Given the description of an element on the screen output the (x, y) to click on. 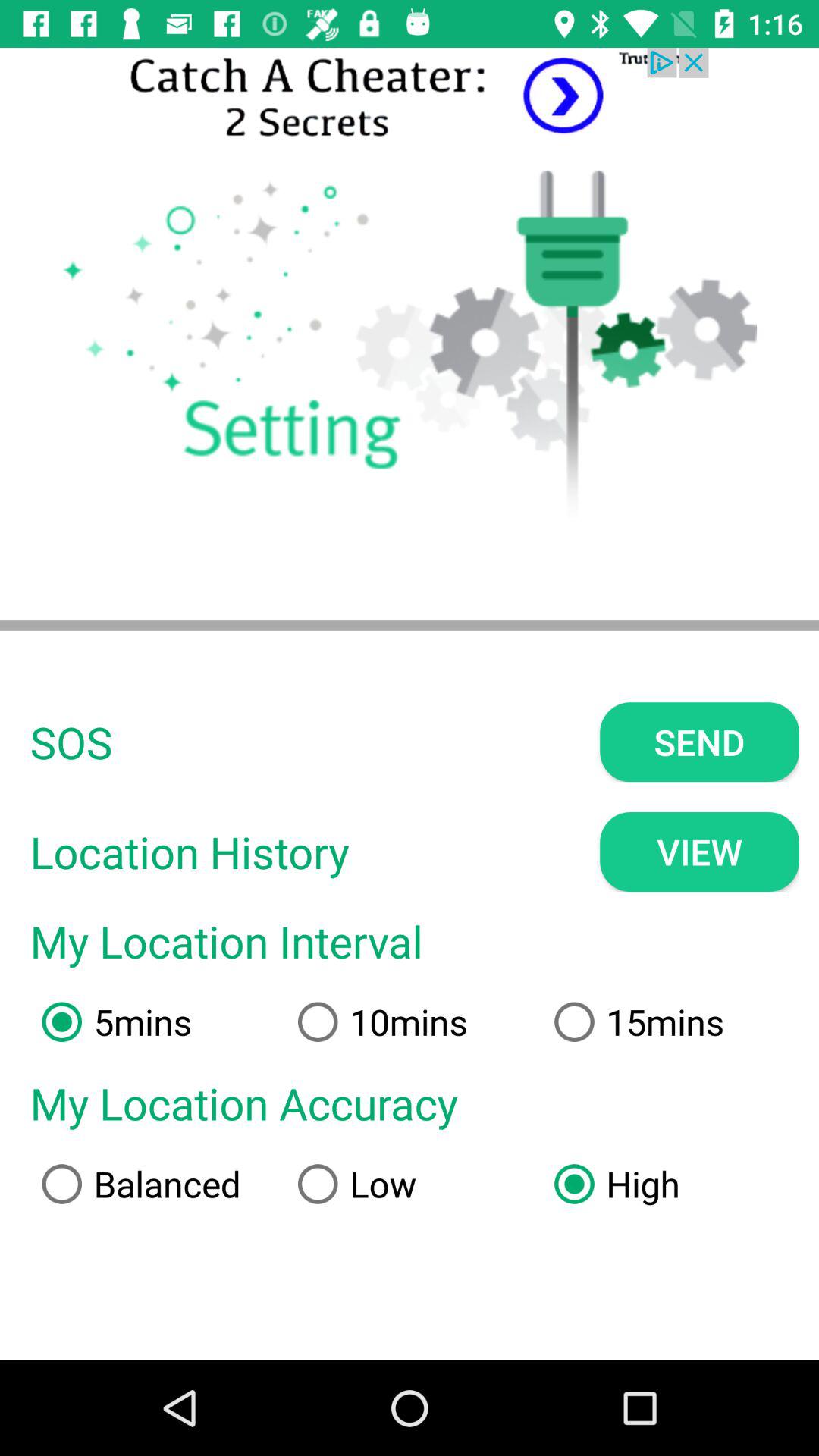
visit sponsor advertisement (409, 97)
